Given the description of an element on the screen output the (x, y) to click on. 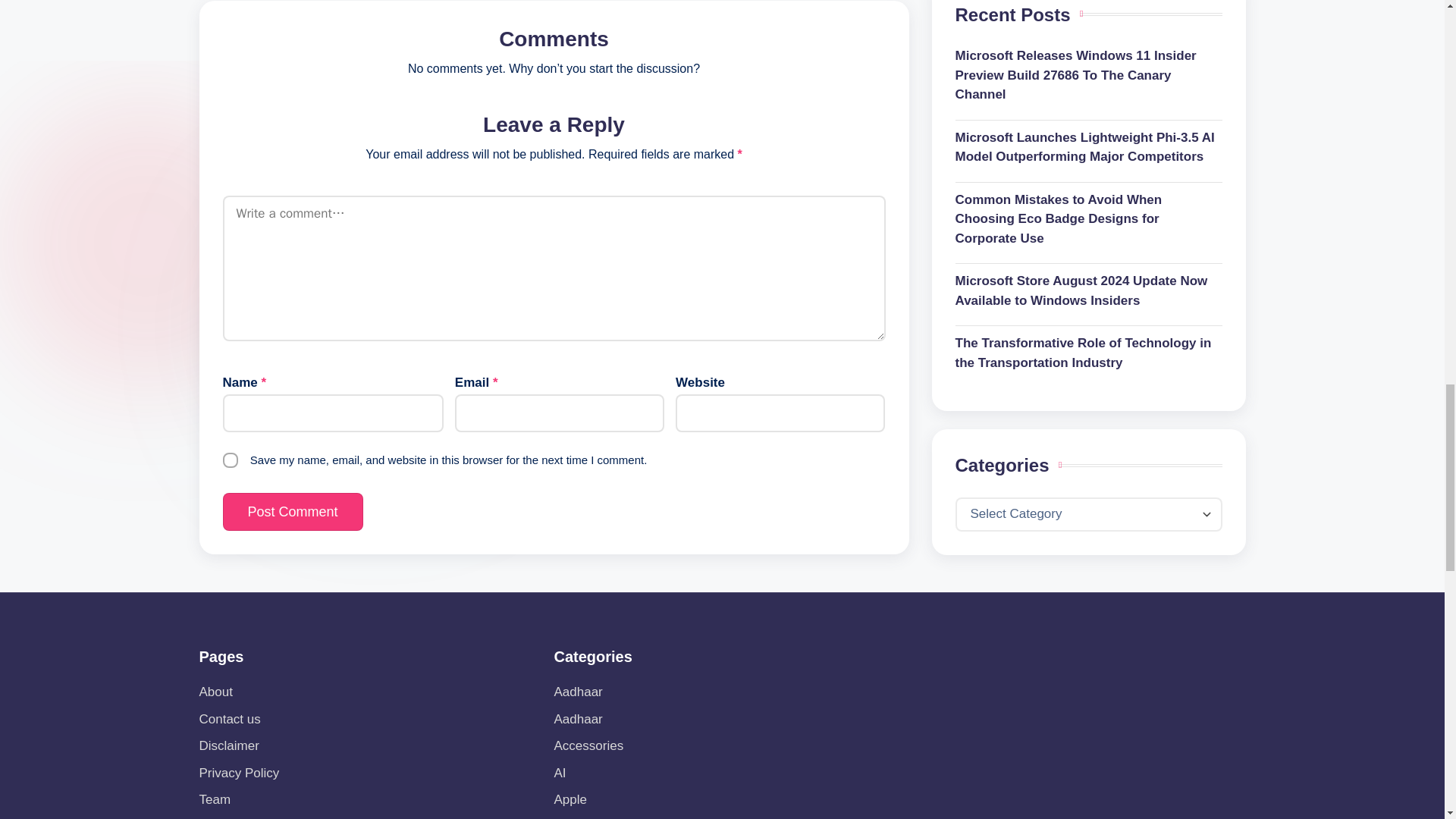
Post Comment (292, 511)
yes (230, 459)
Post Comment (292, 511)
